Given the description of an element on the screen output the (x, y) to click on. 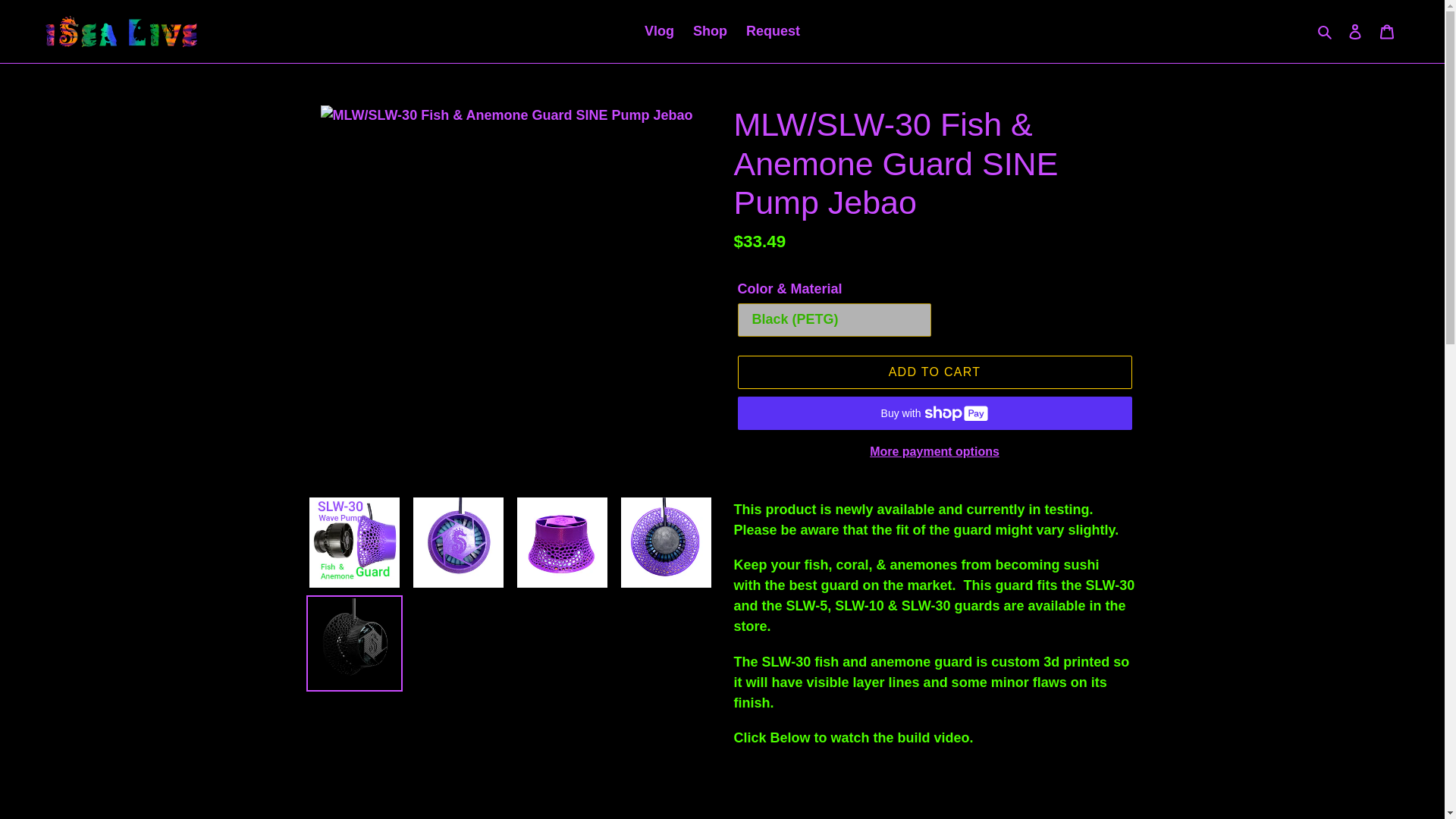
Request (773, 31)
ADD TO CART (933, 372)
Cart (1387, 31)
More payment options (933, 451)
Log in (1355, 31)
Shop (710, 31)
Search (1326, 31)
YouTube video player (934, 791)
Vlog (659, 31)
